Given the description of an element on the screen output the (x, y) to click on. 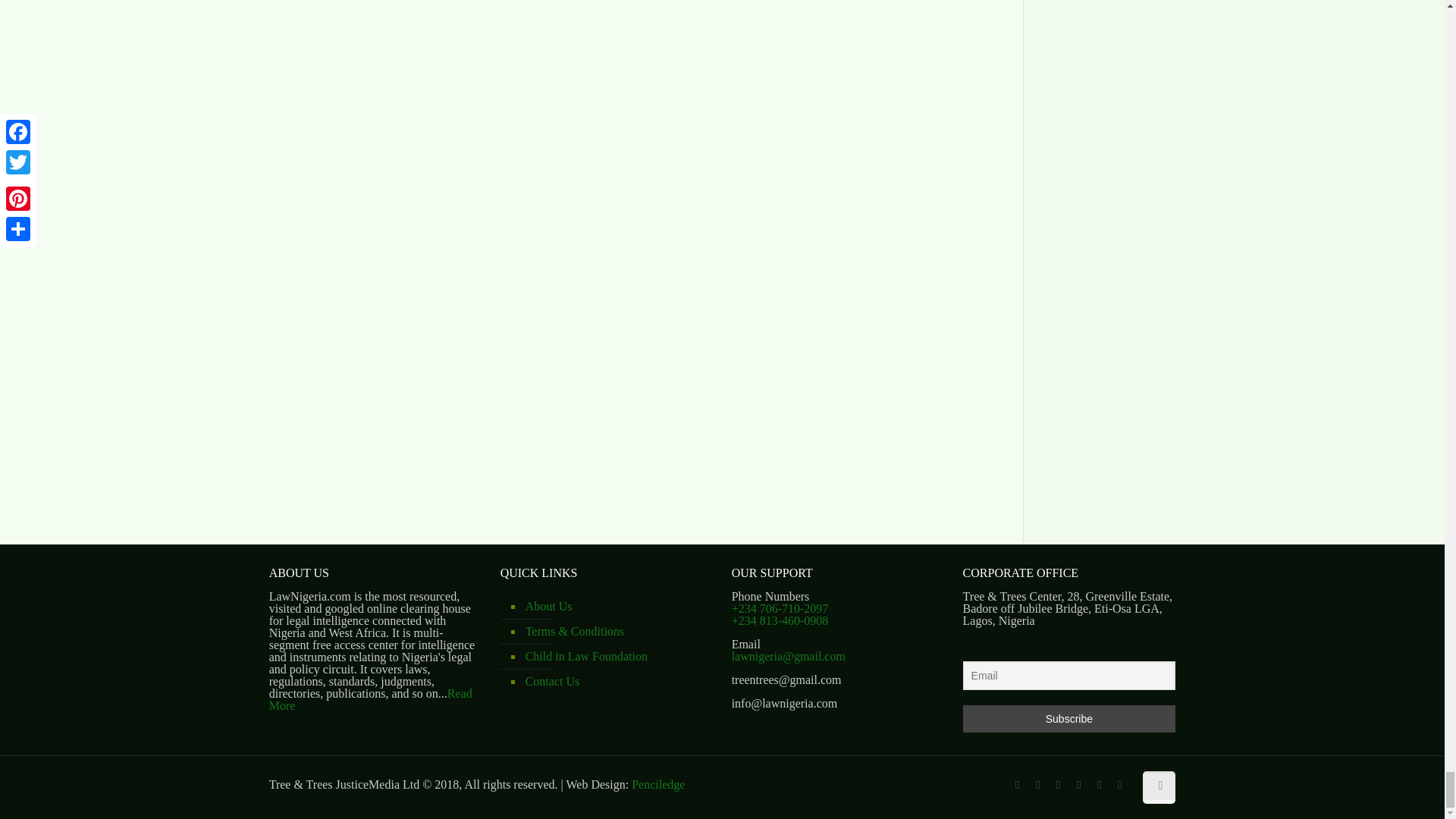
Instagram (1119, 784)
LinkedIn (1098, 784)
YouTube (1078, 784)
Facebook (1017, 784)
Subscribe (1069, 718)
Twitter (1057, 784)
